Given the description of an element on the screen output the (x, y) to click on. 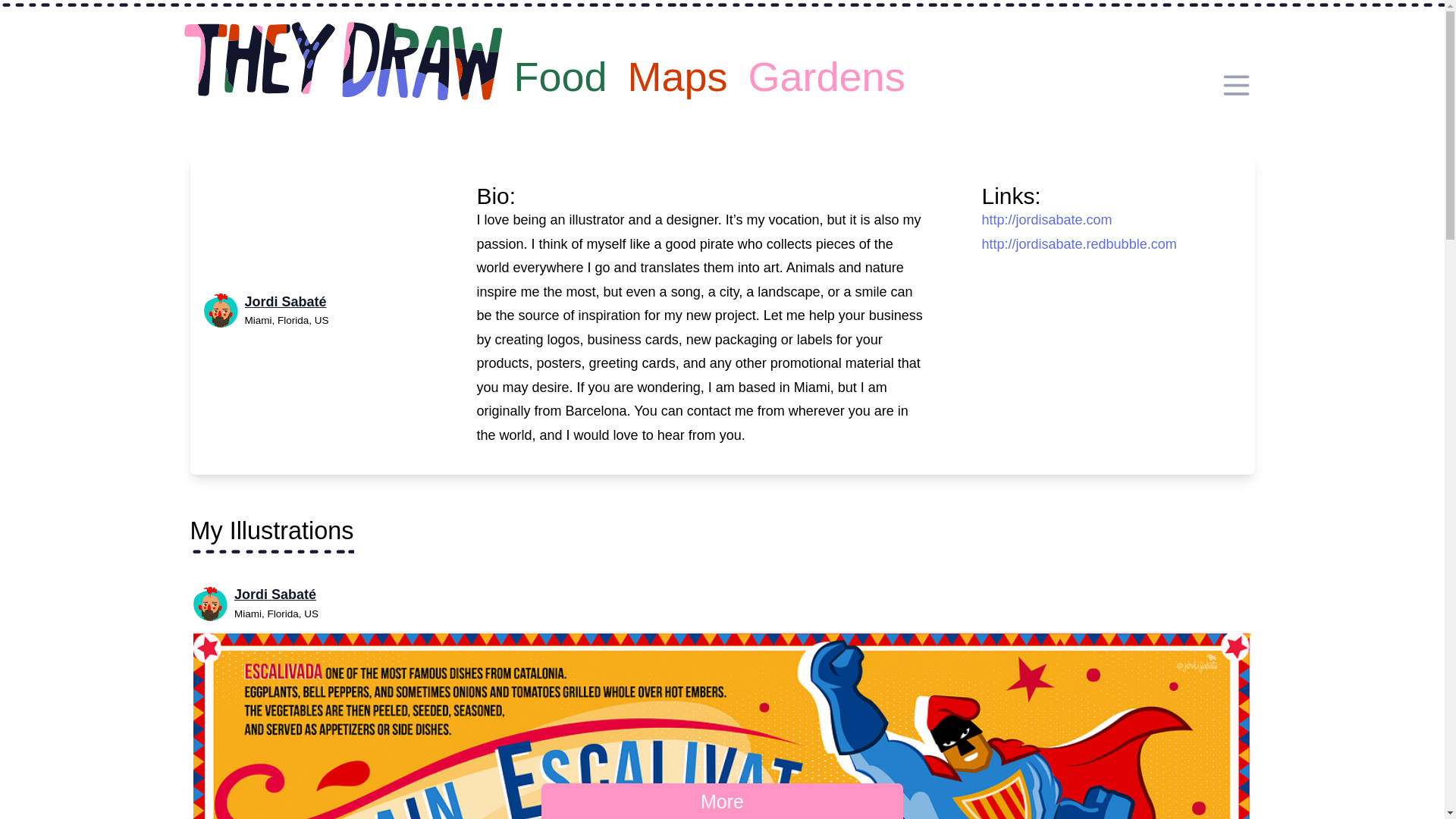
Gardens (826, 74)
Maps (677, 74)
Open main menu (1236, 84)
Food (560, 74)
